Given the description of an element on the screen output the (x, y) to click on. 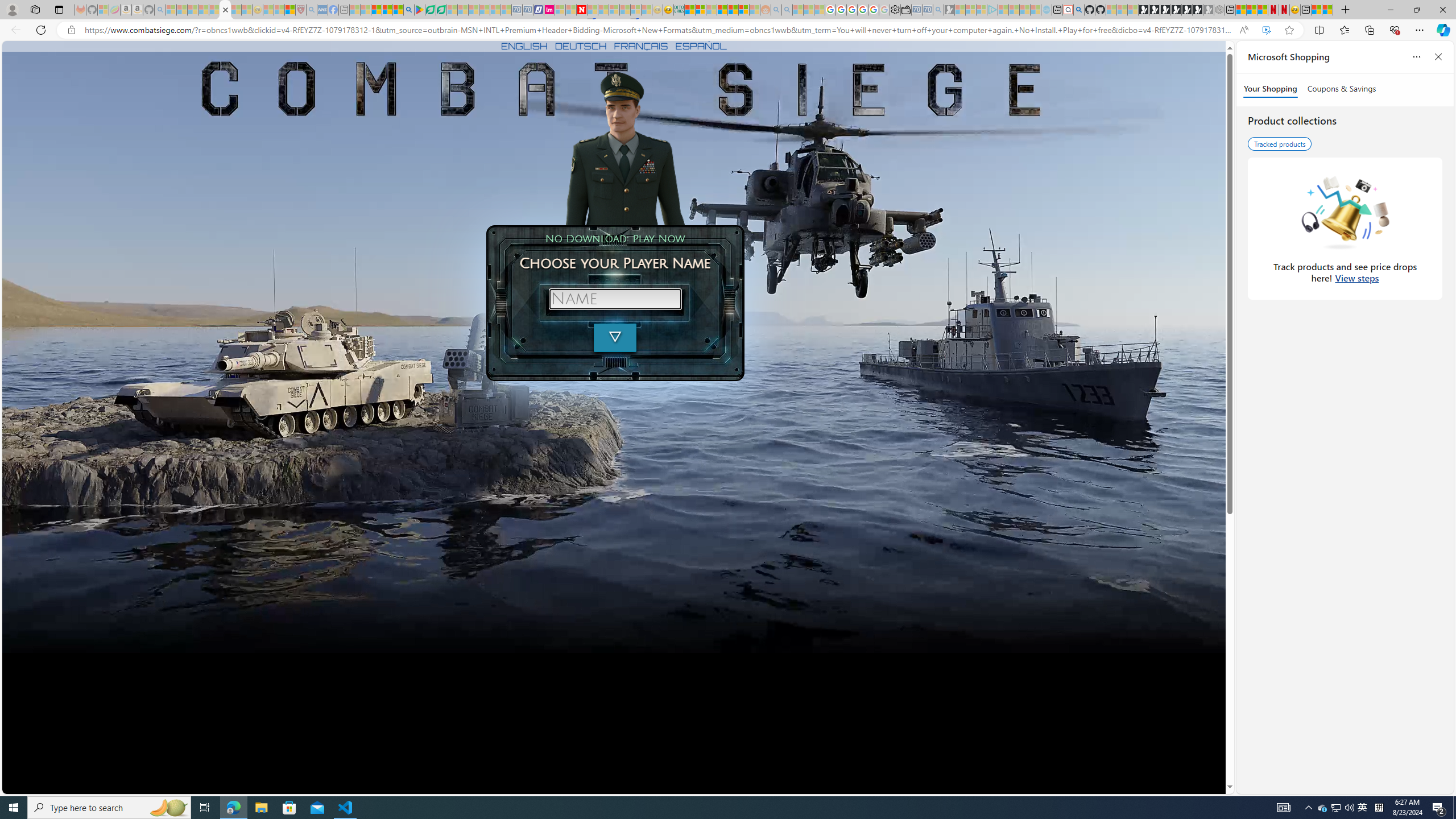
DEUTSCH (580, 45)
github - Search (1078, 9)
Trusted Community Engagement and Contributions | Guidelines (592, 9)
Recipes - MSN - Sleeping (267, 9)
